Given the description of an element on the screen output the (x, y) to click on. 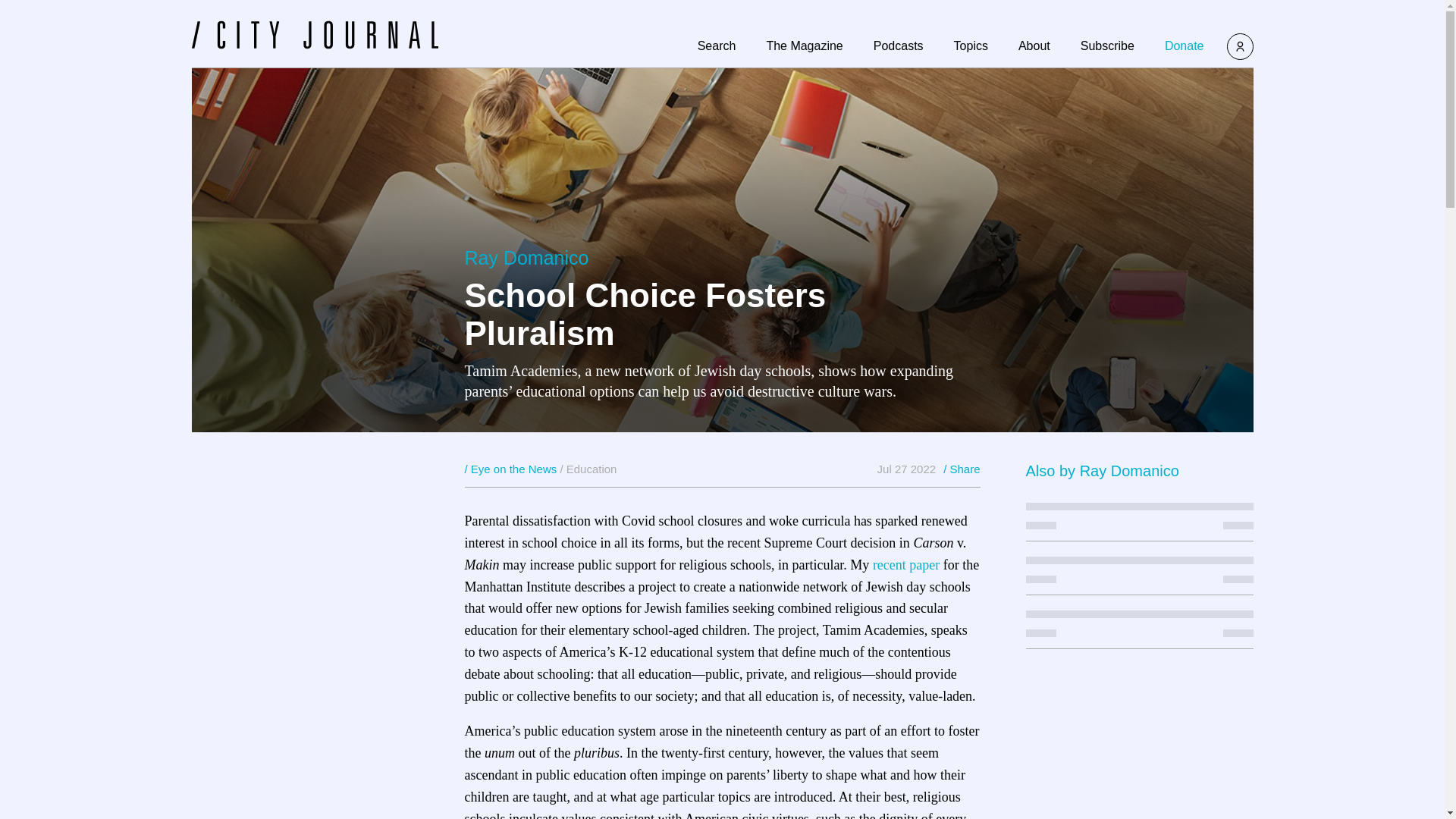
About (1033, 46)
Donate (1184, 46)
Ray Domanico (1129, 470)
Podcasts (898, 46)
Search (716, 46)
The Magazine (804, 46)
Education (591, 468)
Subscribe (1107, 46)
Topics (970, 46)
Ray Domanico (526, 257)
